Given the description of an element on the screen output the (x, y) to click on. 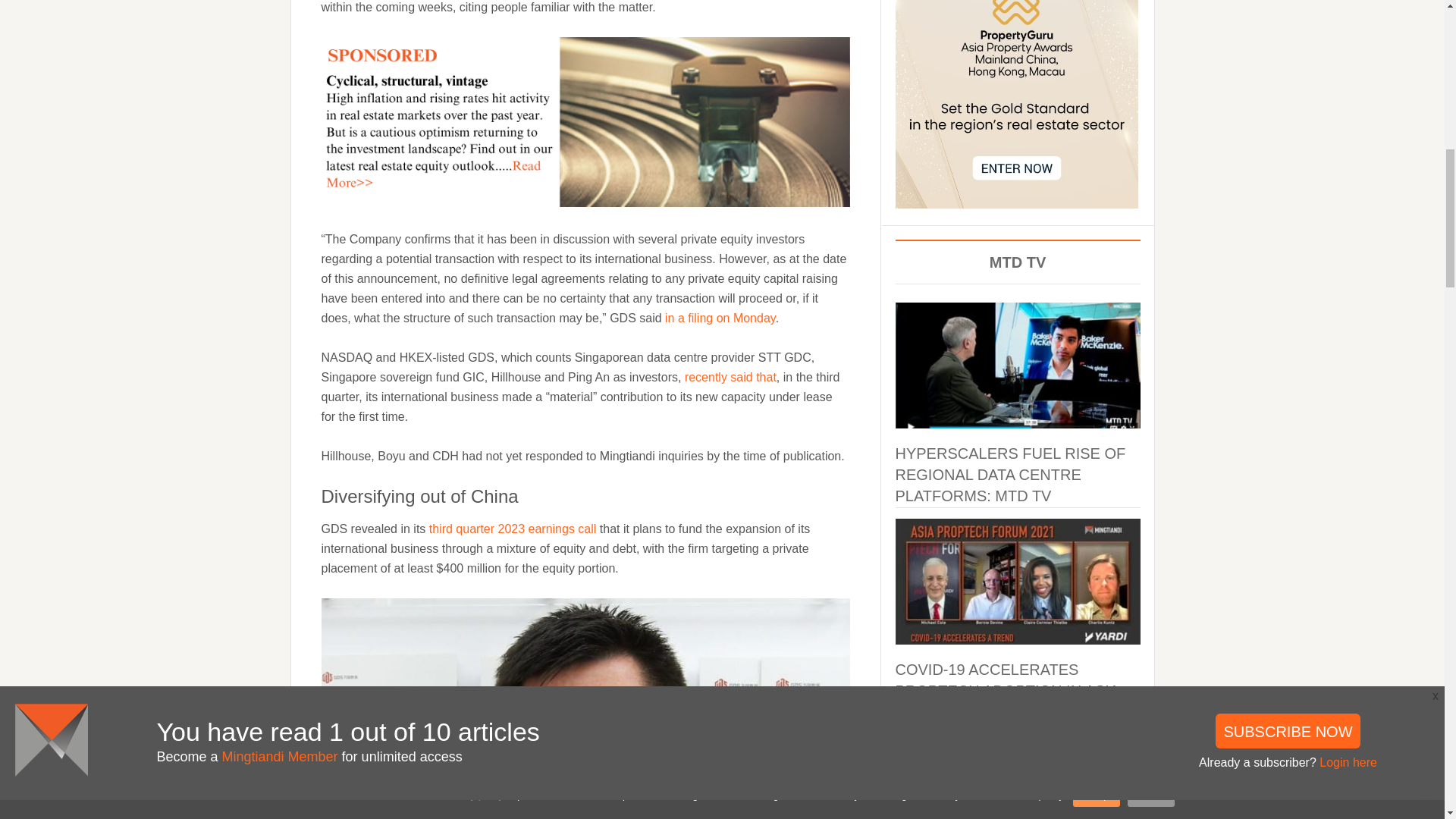
MTD TV Video (1017, 751)
